Given the description of an element on the screen output the (x, y) to click on. 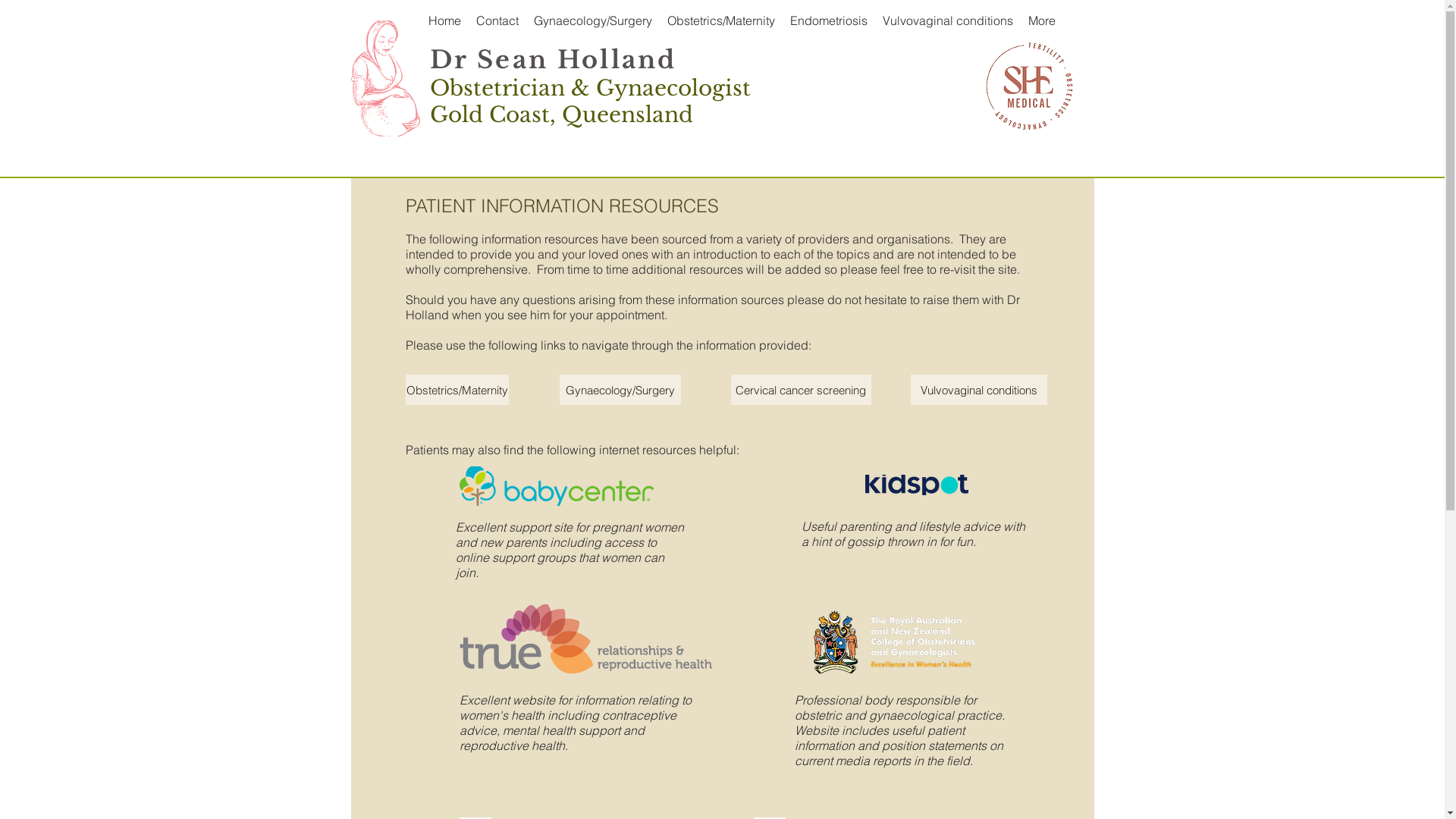
Gynaecology/Surgery Element type: text (592, 20)
Obstetrics/Maternity Element type: text (720, 20)
Vulvovaginal conditions Element type: text (978, 389)
Cervical cancer screening Element type: text (801, 389)
Vulvovaginal conditions Element type: text (947, 20)
Endometriosis Element type: text (828, 20)
Gynaecology/Surgery Element type: text (619, 389)
Home Element type: text (443, 20)
Contact Element type: text (497, 20)
Obstetrics/Maternity Element type: text (456, 389)
Obstetrician & Gynaecologist Element type: text (589, 88)
